Given the description of an element on the screen output the (x, y) to click on. 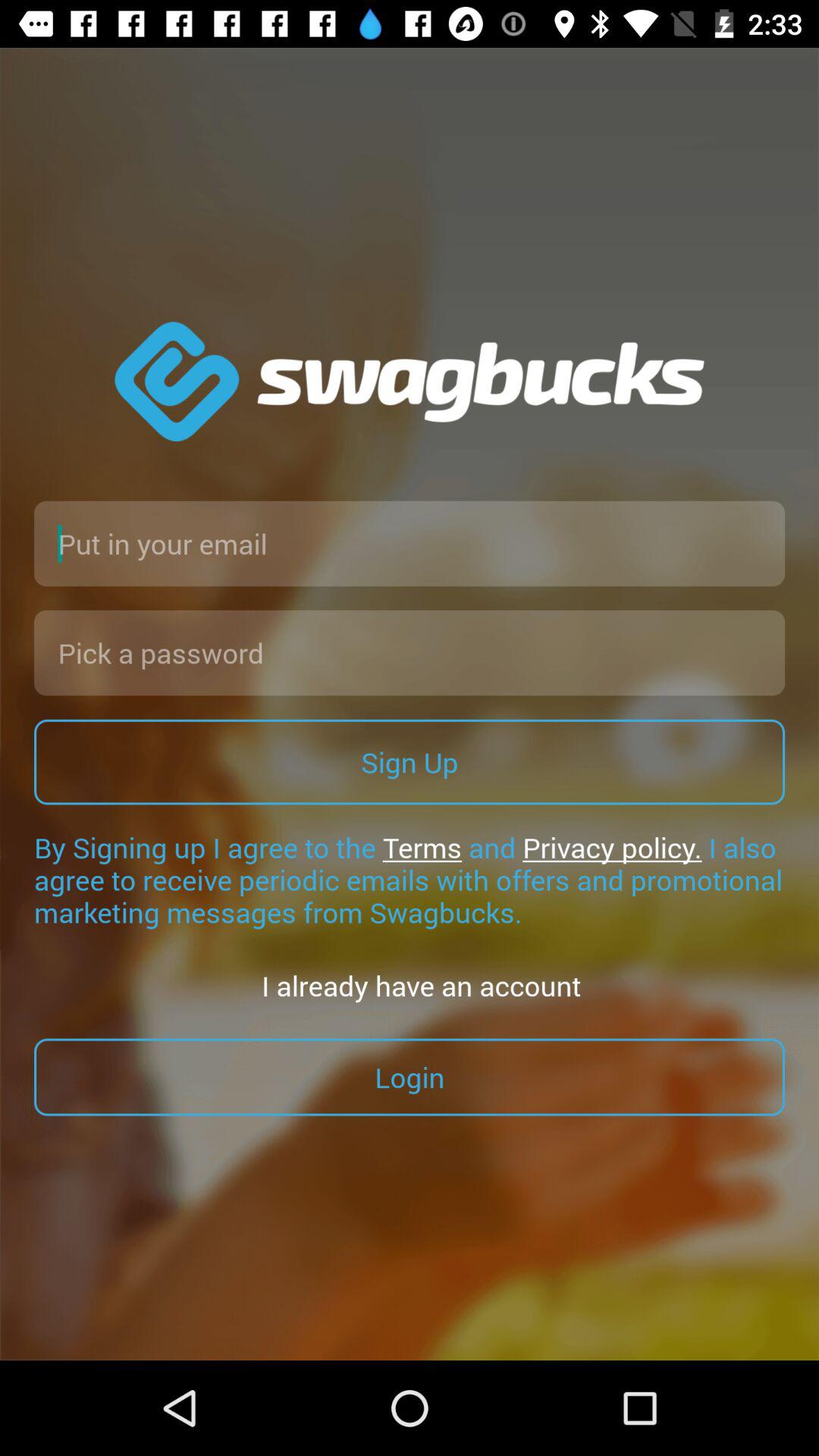
choose a password (409, 652)
